Given the description of an element on the screen output the (x, y) to click on. 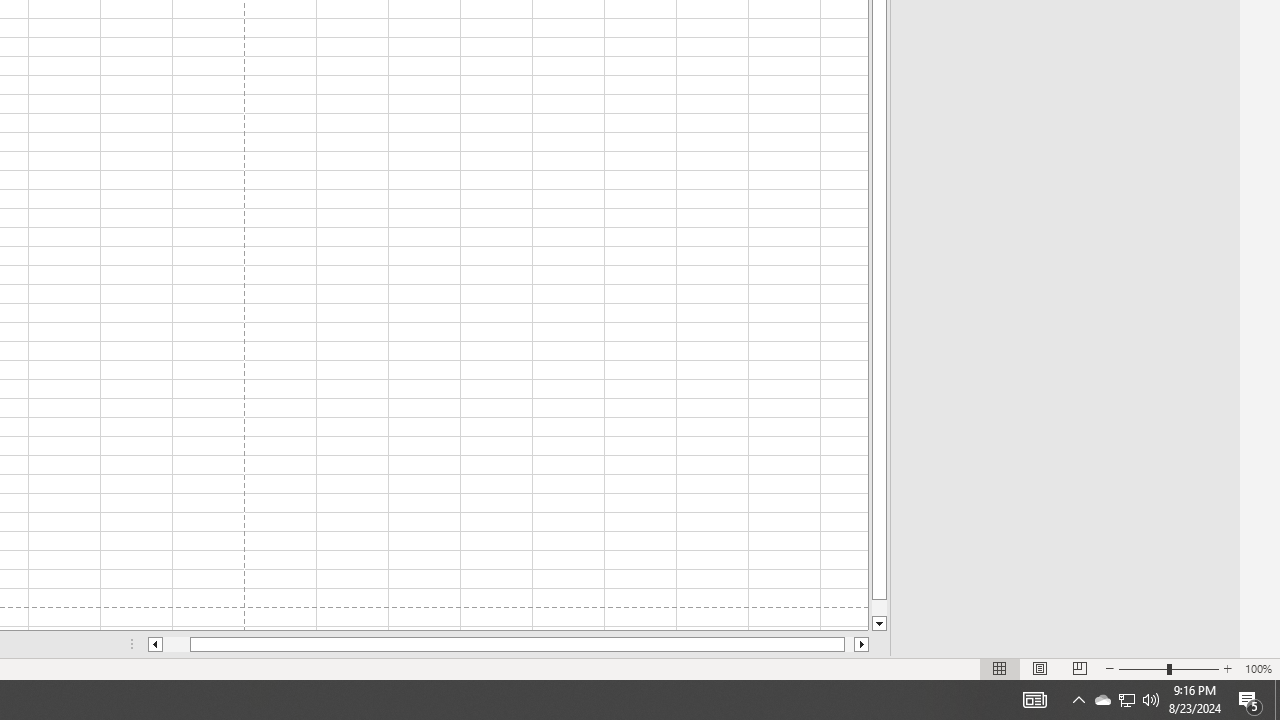
Page left (175, 644)
